Given the description of an element on the screen output the (x, y) to click on. 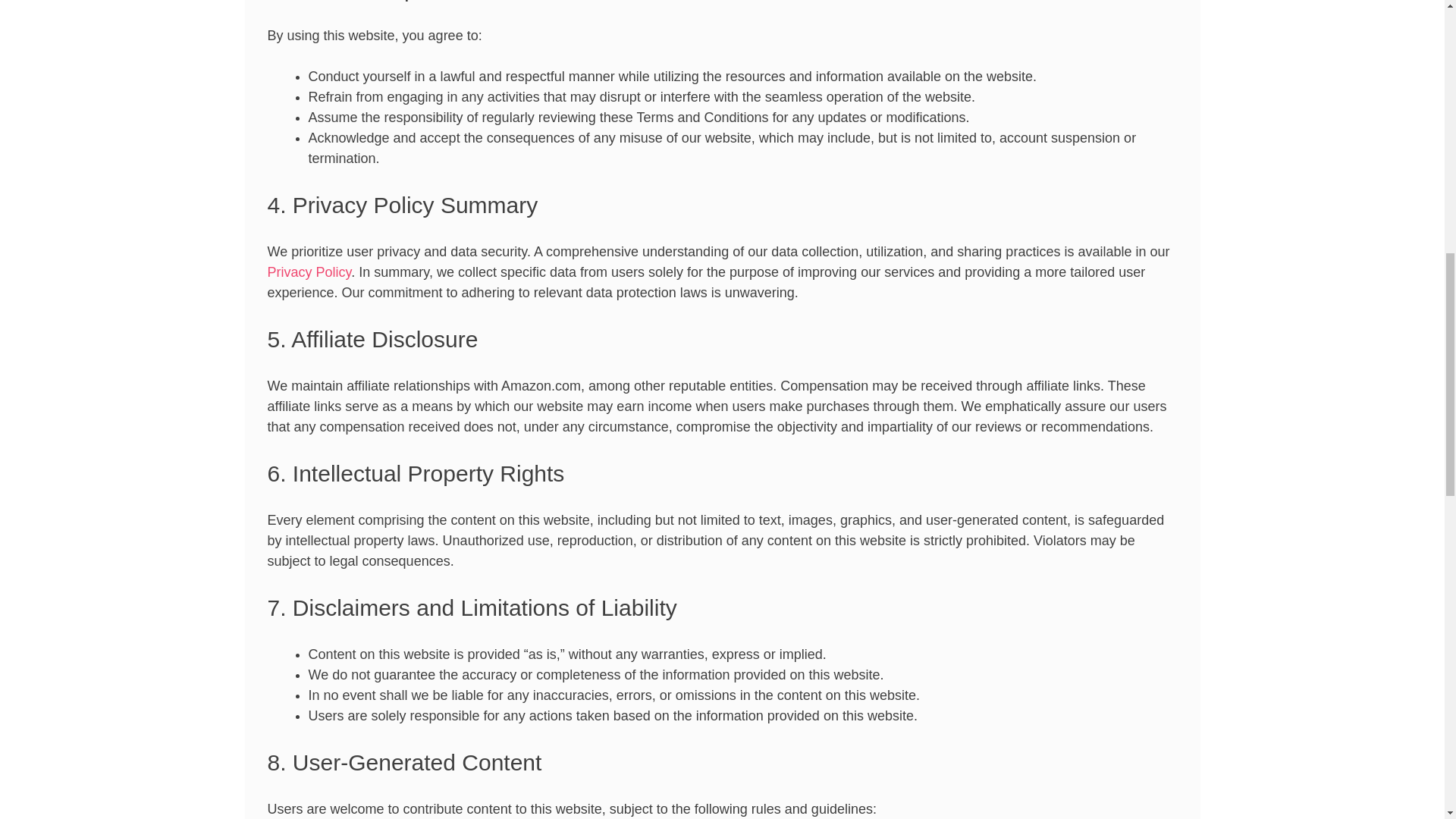
Privacy Policy (308, 272)
Scroll back to top (1406, 720)
